Given the description of an element on the screen output the (x, y) to click on. 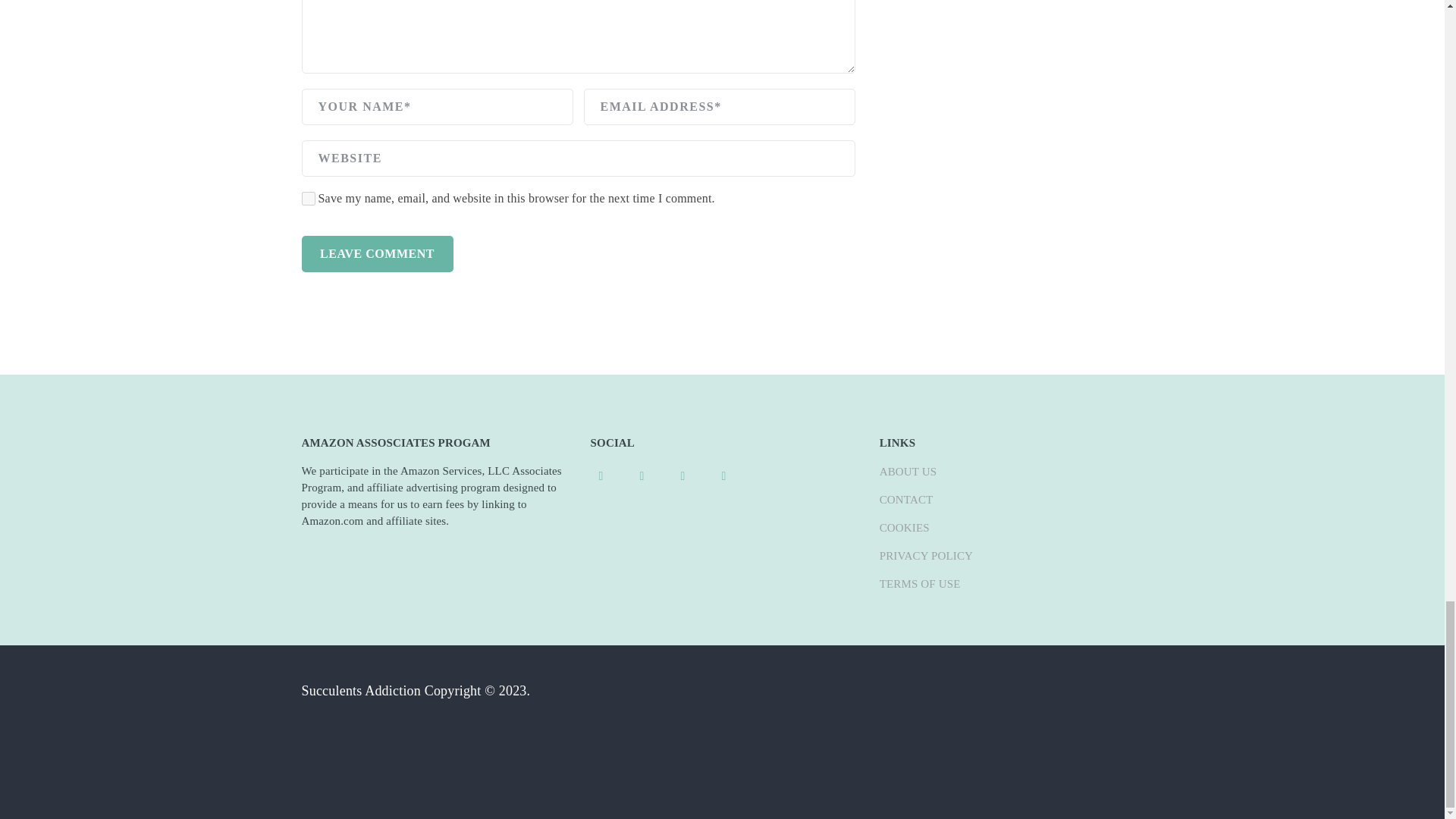
yes (308, 198)
CONTACT (906, 499)
PRIVACY POLICY (925, 555)
Leave Comment (376, 253)
Leave Comment (376, 253)
ABOUT US (908, 471)
COOKIES (904, 527)
TERMS OF USE (919, 583)
